Given the description of an element on the screen output the (x, y) to click on. 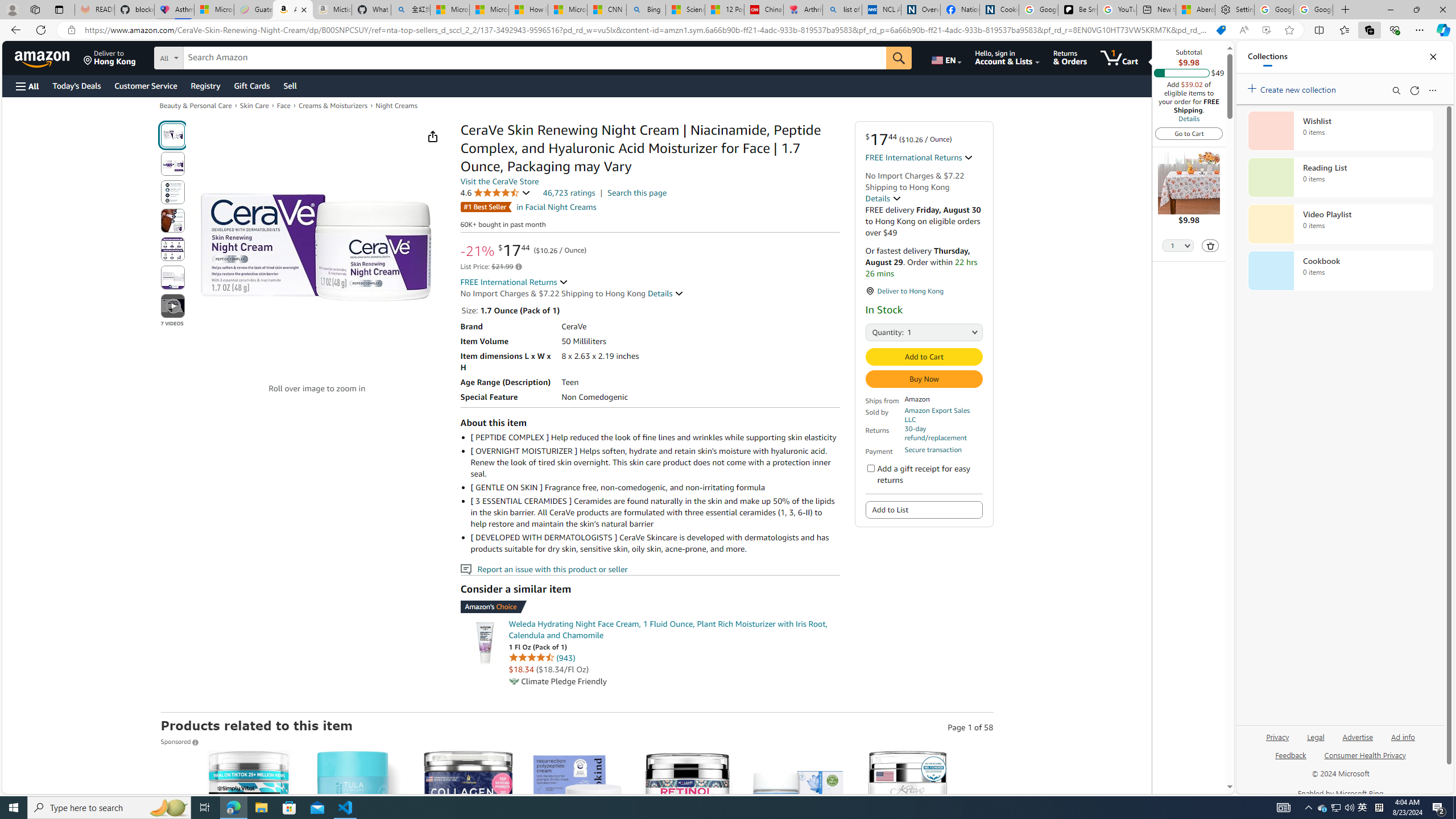
Workspaces (34, 9)
Learn more about Amazon pricing and savings (518, 266)
Reading List collection, 0 items (1339, 177)
list of asthma inhalers uk - Search (842, 9)
1 item in cart (1118, 57)
Creams & Moisturizers (333, 105)
Hello, sign in Account & Lists (1007, 57)
Privacy (1278, 736)
Registry (205, 85)
